Given the description of an element on the screen output the (x, y) to click on. 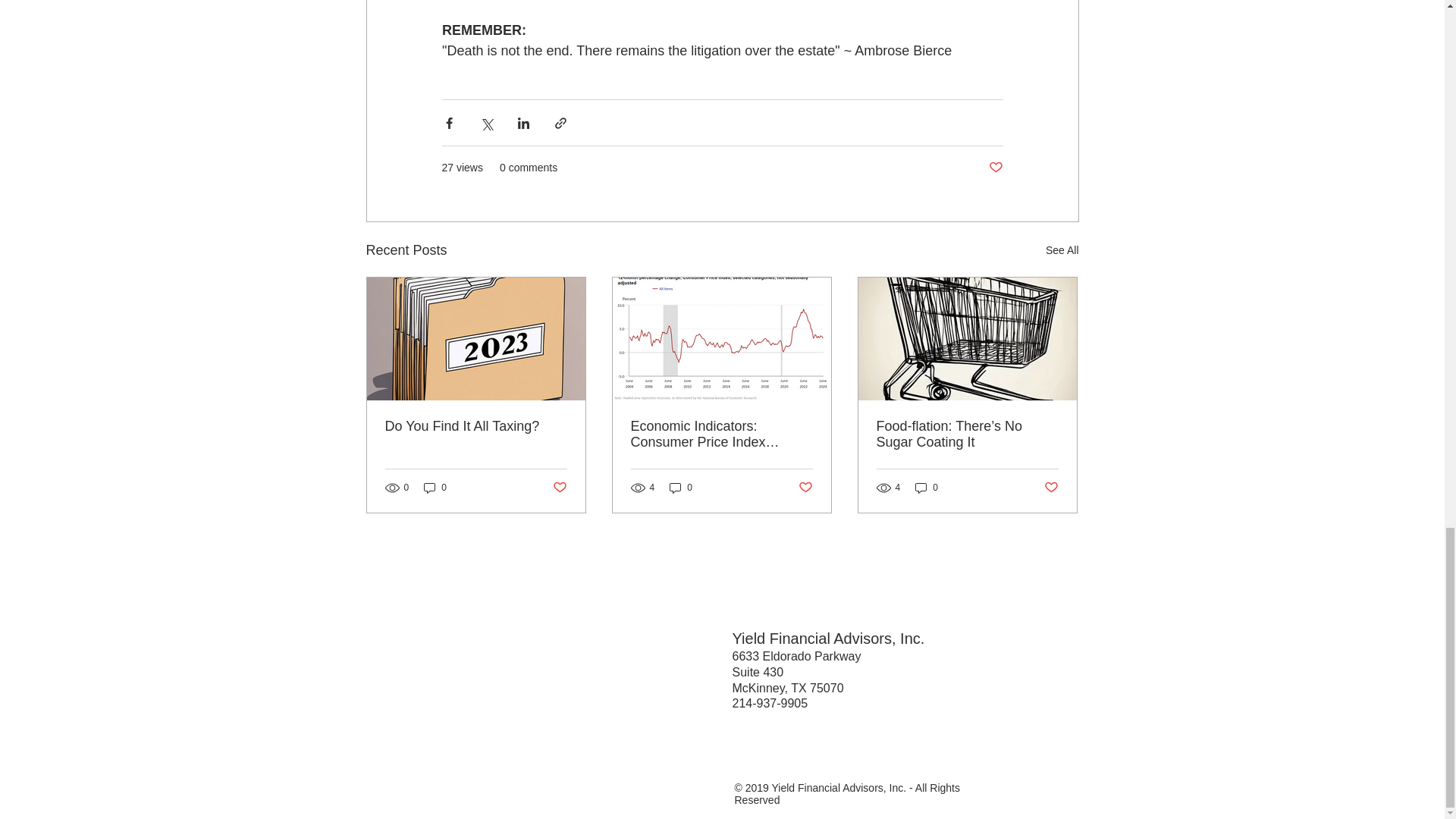
0 (681, 487)
Post not marked as liked (995, 167)
See All (1061, 250)
Post not marked as liked (804, 487)
Post not marked as liked (1050, 487)
0 (926, 487)
0 (435, 487)
Do You Find It All Taxing? (476, 426)
Post not marked as liked (558, 487)
